Given the description of an element on the screen output the (x, y) to click on. 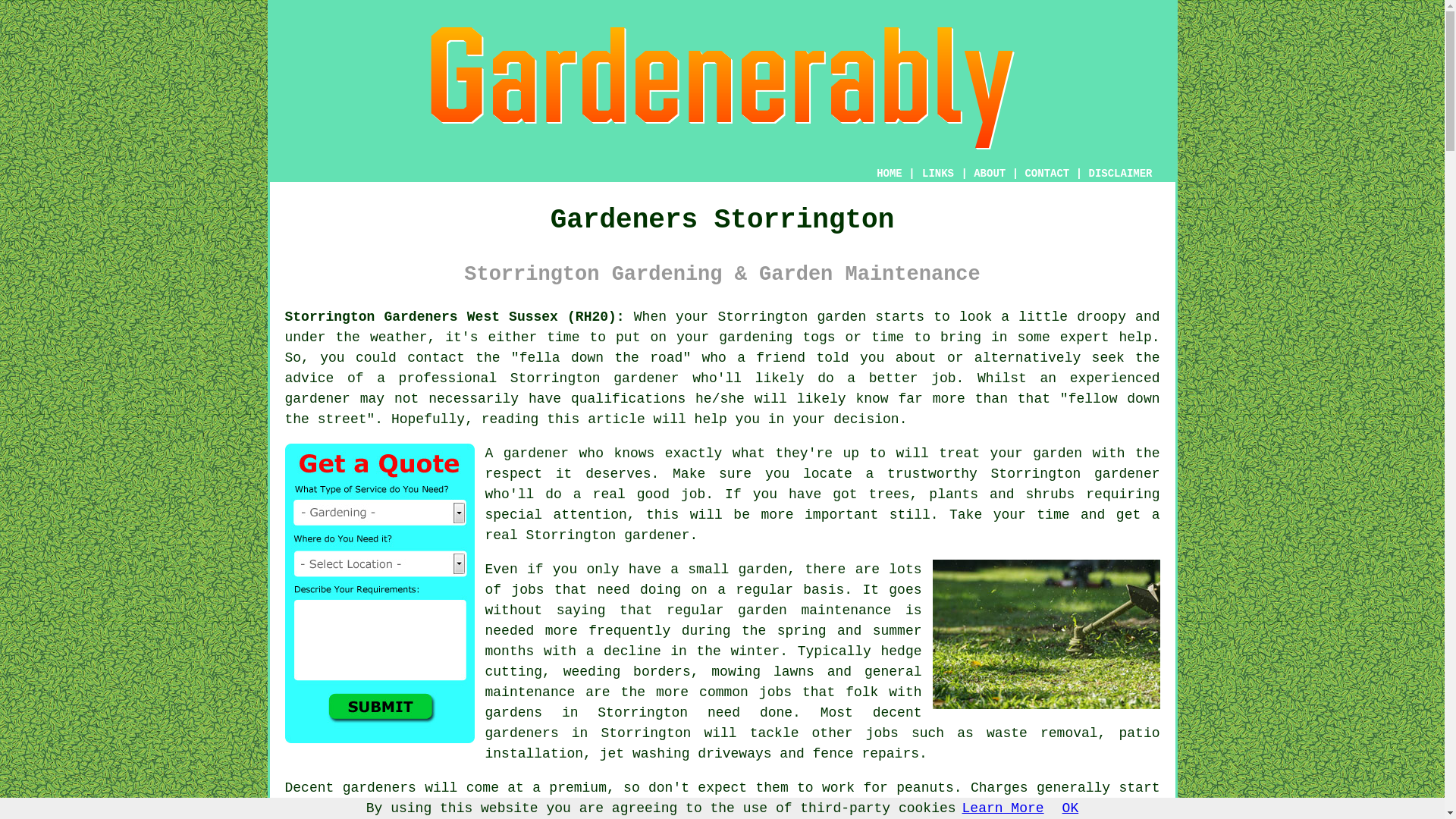
LINKS (938, 173)
HOME (889, 173)
Gardener Storrington (1046, 634)
